Given the description of an element on the screen output the (x, y) to click on. 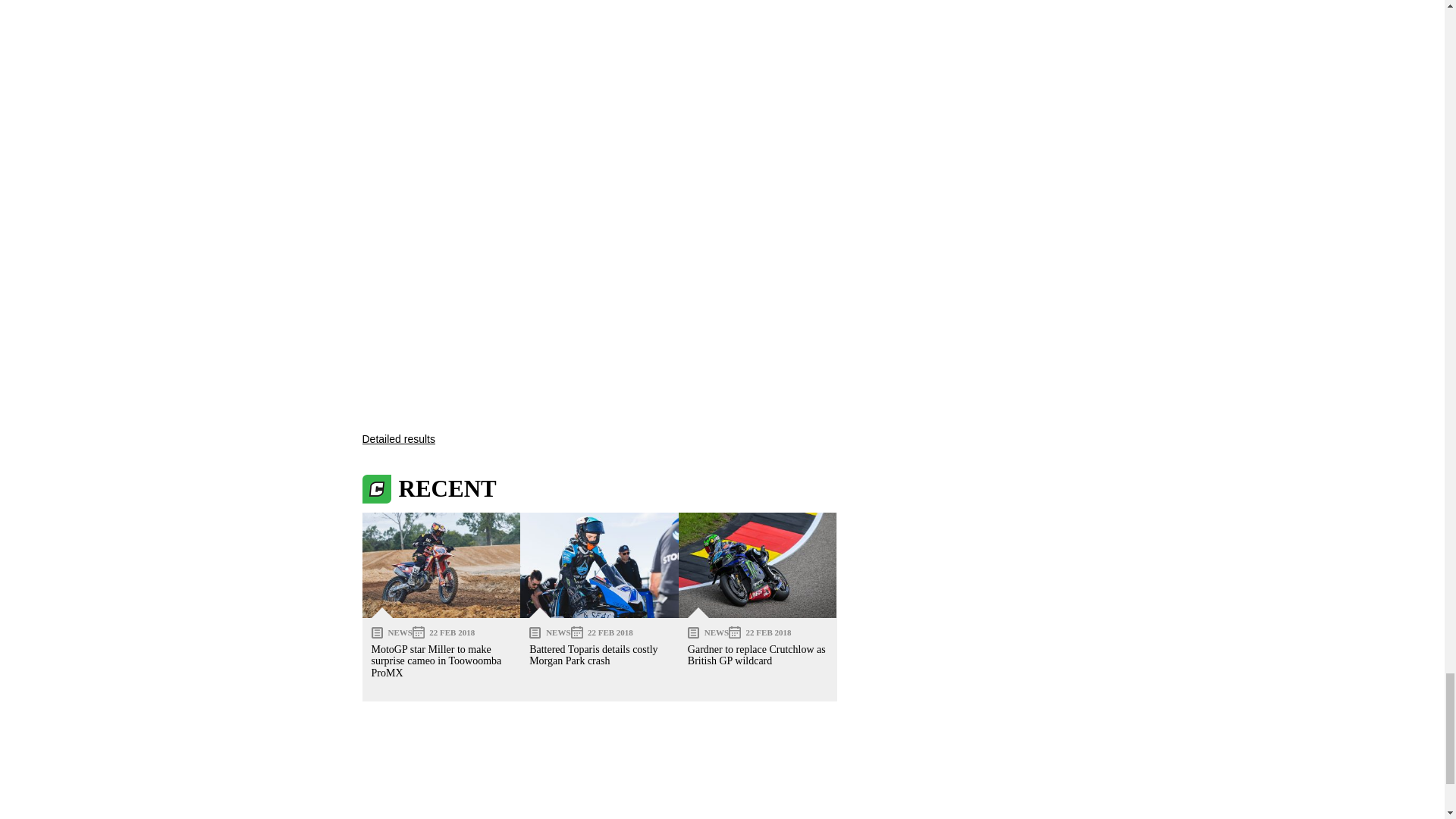
Battered Toparis details costly Morgan Park crash (598, 565)
Gardner to replace Crutchlow as British GP wildcard (757, 565)
MotoGP star Miller to make surprise cameo in Toowoomba ProMX (441, 565)
